Given the description of an element on the screen output the (x, y) to click on. 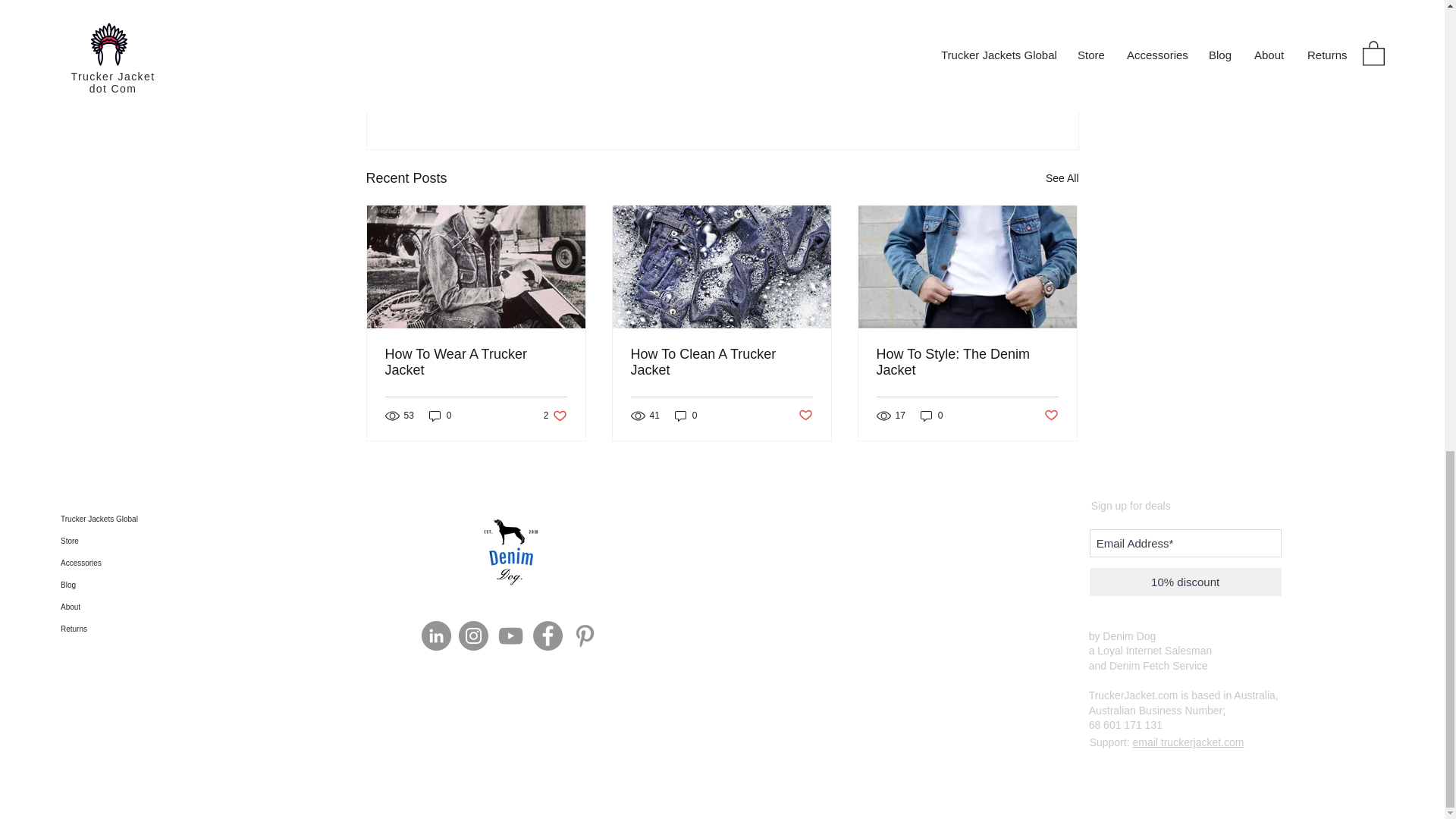
See All (1061, 178)
0 (685, 415)
0 (440, 415)
Culture (468, 2)
Mens Fashion (545, 2)
Post not marked as liked (555, 415)
How To Wear A Trucker Jacket (804, 415)
Post not marked as liked (476, 362)
How To Clean A Trucker Jacket (995, 95)
